Given the description of an element on the screen output the (x, y) to click on. 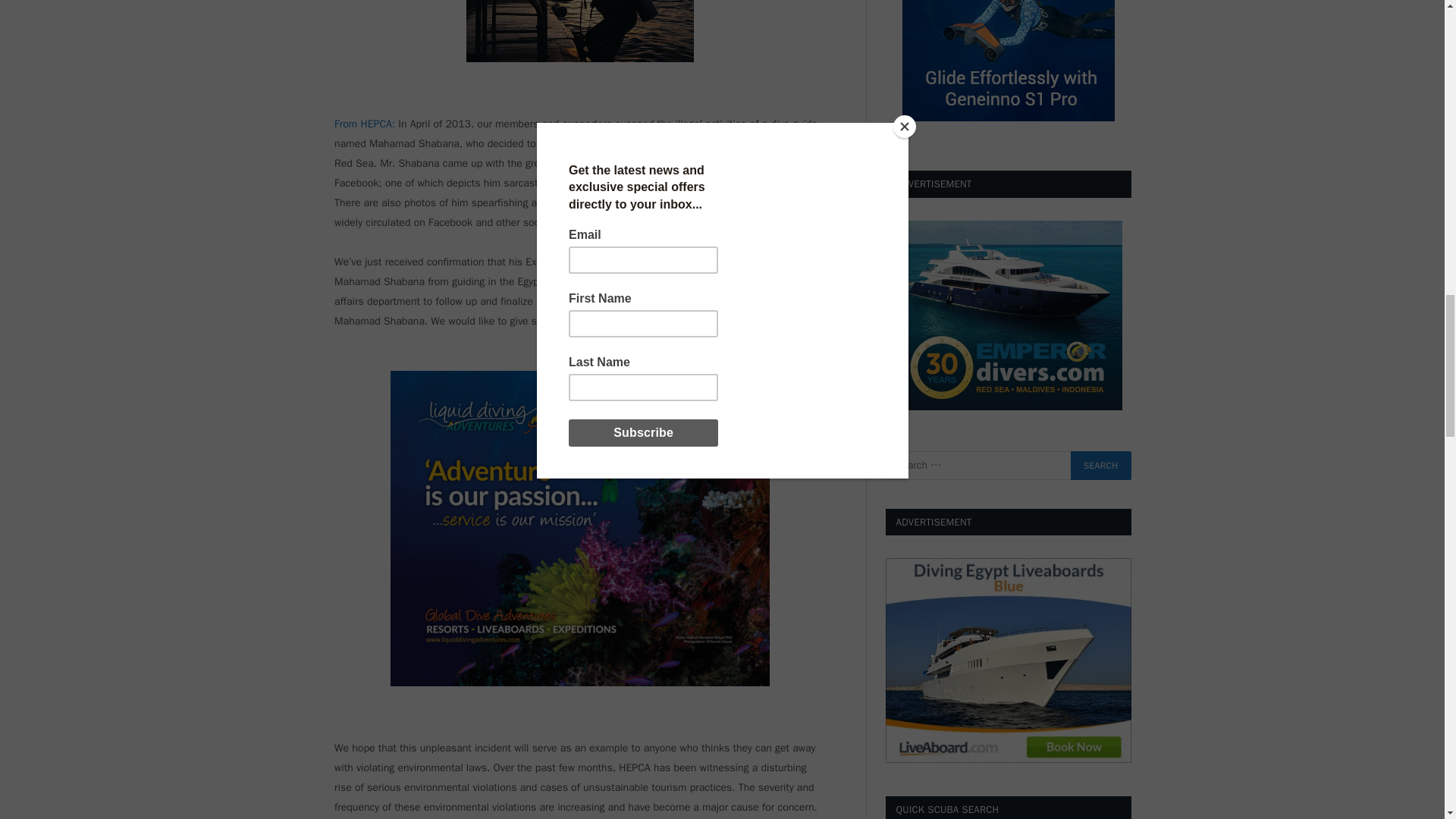
Search (1100, 465)
Search (1100, 465)
